Given the description of an element on the screen output the (x, y) to click on. 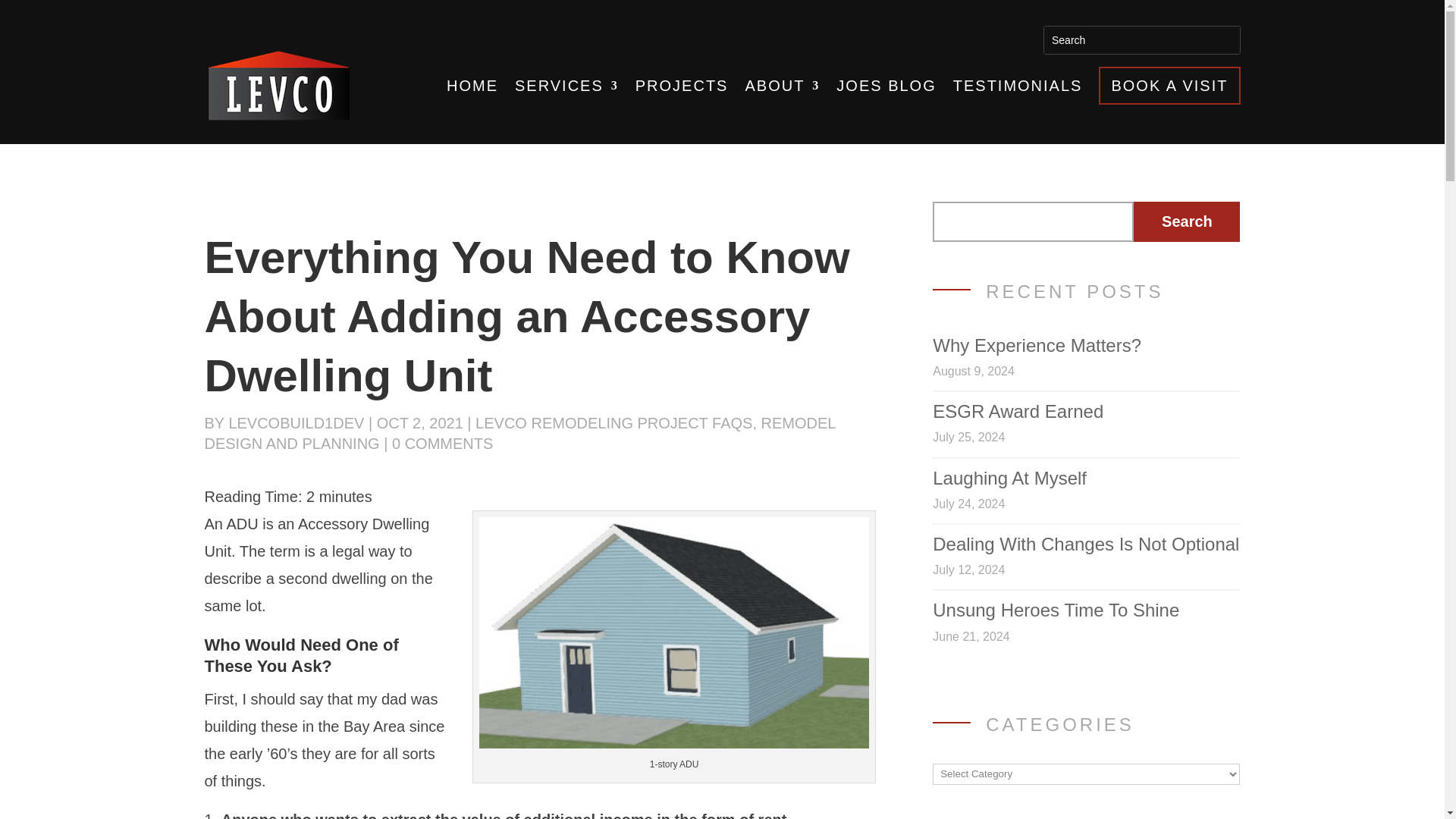
HOME (471, 85)
BOOK A VISIT (1169, 85)
ABOUT (781, 85)
Posts by levcobuild1dev (296, 422)
Search (1068, 40)
Search (1187, 221)
Search (1187, 221)
JOES BLOG (885, 85)
Search (1068, 40)
Search (1068, 40)
